Given the description of an element on the screen output the (x, y) to click on. 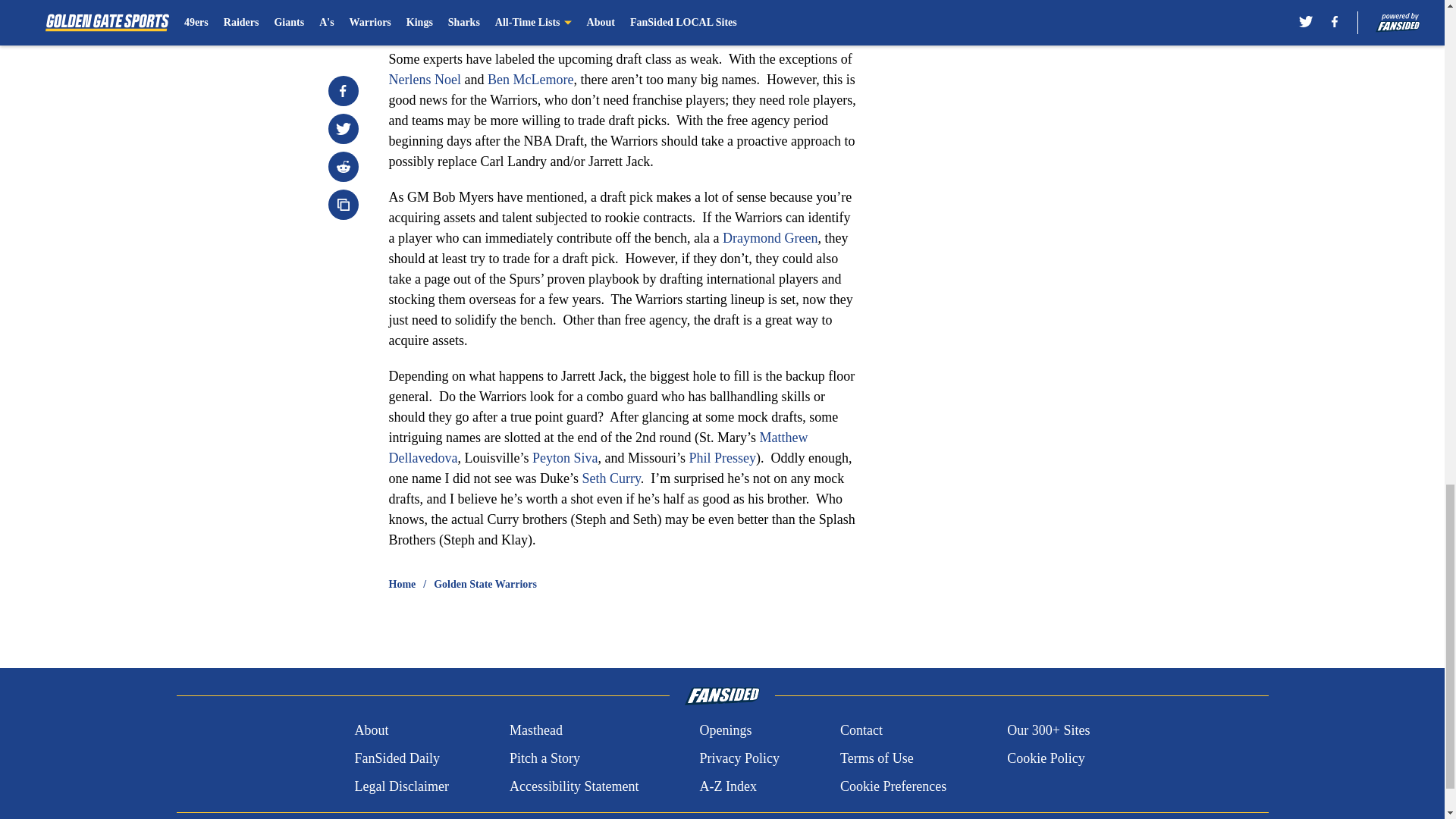
Phil Pressey (721, 458)
Matthew Dellavedova (598, 447)
Seth Curry (610, 478)
Masthead (535, 730)
Draymond Green (769, 237)
About (370, 730)
Openings (724, 730)
Home (401, 584)
Golden State Warriors (485, 584)
Nerlens Noel (424, 79)
Marcus Williams (724, 23)
Ben McLemore (530, 79)
Peyton Siva (565, 458)
Contact (861, 730)
